Given the description of an element on the screen output the (x, y) to click on. 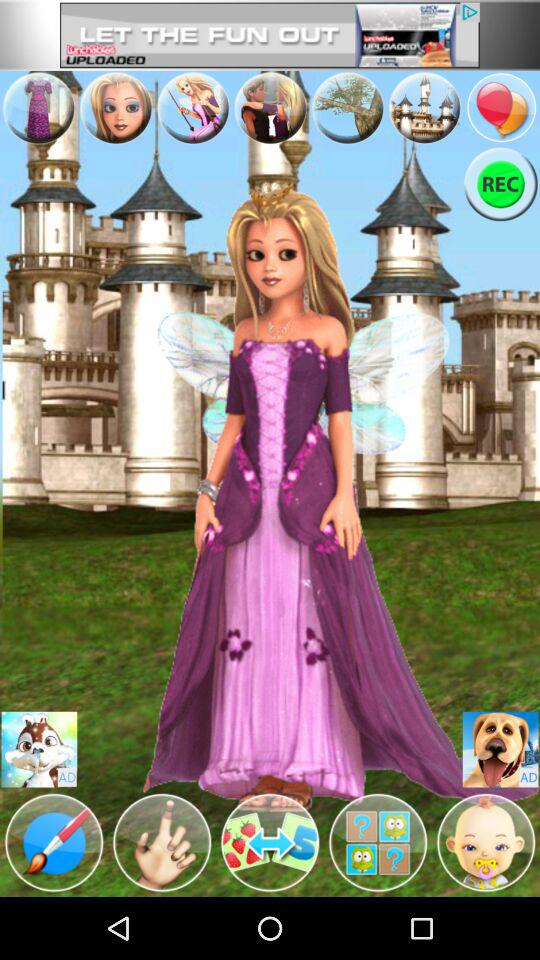
paint bar (54, 843)
